Given the description of an element on the screen output the (x, y) to click on. 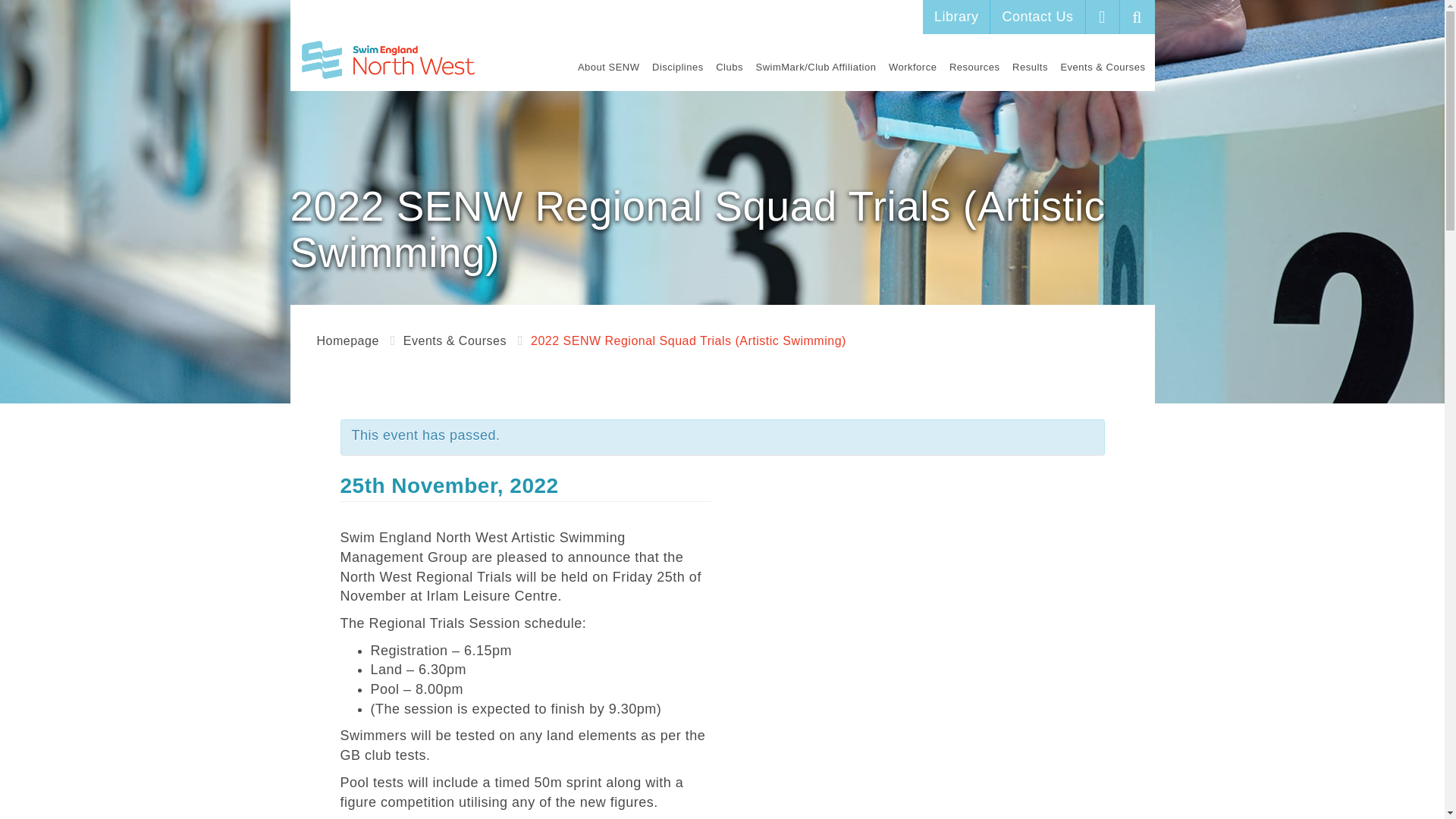
Disciplines (677, 67)
Contact Us (1037, 17)
GO (1136, 17)
GO (1136, 17)
Clubs (729, 67)
Events (454, 340)
GO (1136, 17)
Library (957, 17)
Homepage (347, 340)
About SENW (609, 67)
